Given the description of an element on the screen output the (x, y) to click on. 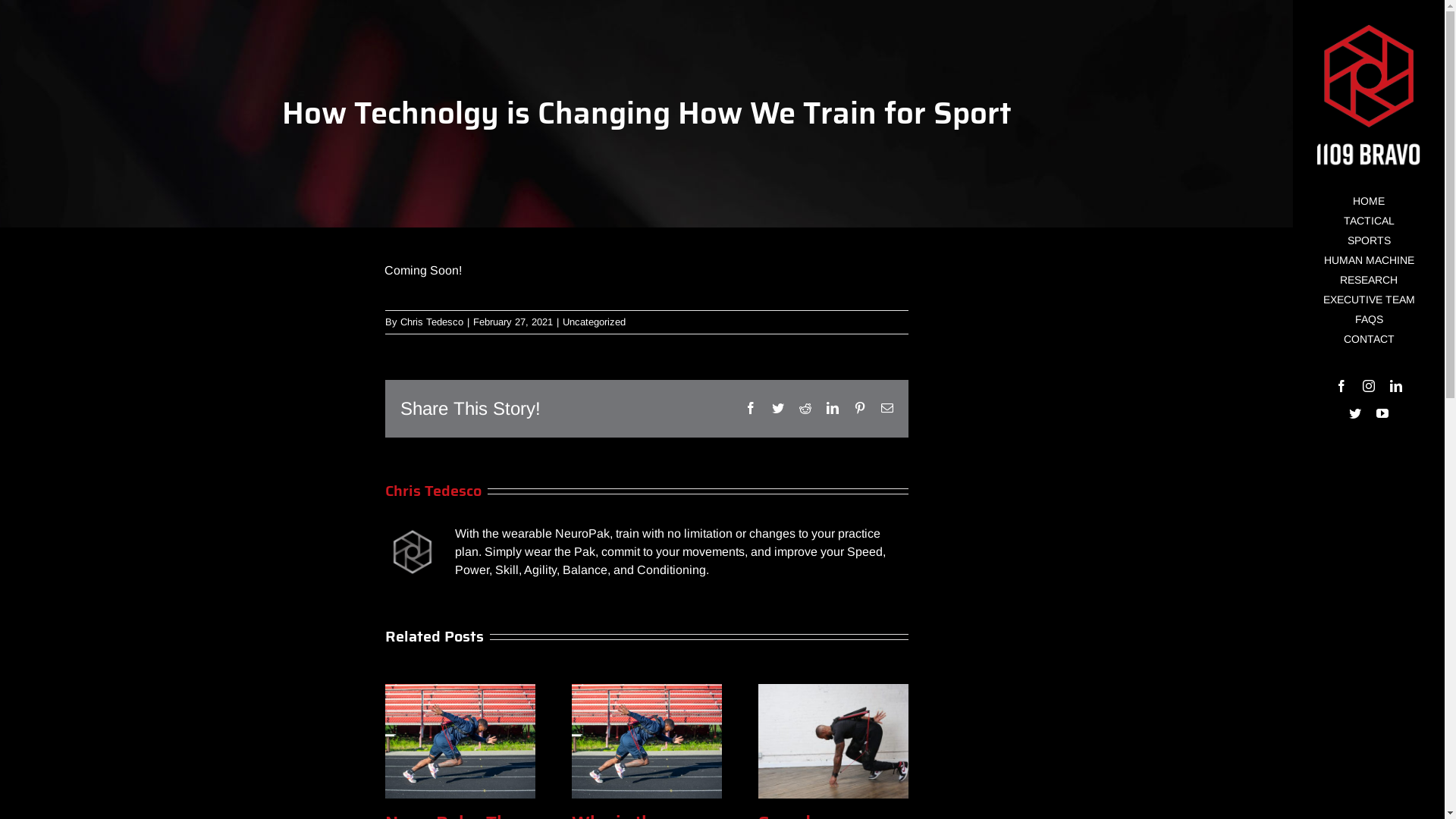
YouTube Element type: text (1382, 413)
LinkedIn Element type: text (1396, 385)
Twitter Element type: text (1355, 413)
SPORTS Element type: text (1368, 241)
HOME Element type: text (1368, 201)
Reddit Element type: text (805, 407)
Pinterest Element type: text (859, 407)
FAQS Element type: text (1368, 319)
RESEARCH Element type: text (1368, 280)
CONTACT Element type: text (1368, 339)
LinkedIn Element type: text (832, 407)
Email Element type: text (887, 407)
Facebook Element type: text (750, 407)
Twitter Element type: text (777, 407)
TACTICAL Element type: text (1368, 221)
EXECUTIVE TEAM Element type: text (1368, 300)
Facebook Element type: text (1341, 385)
HUMAN MACHINE Element type: text (1368, 260)
Instagram Element type: text (1368, 385)
